Given the description of an element on the screen output the (x, y) to click on. 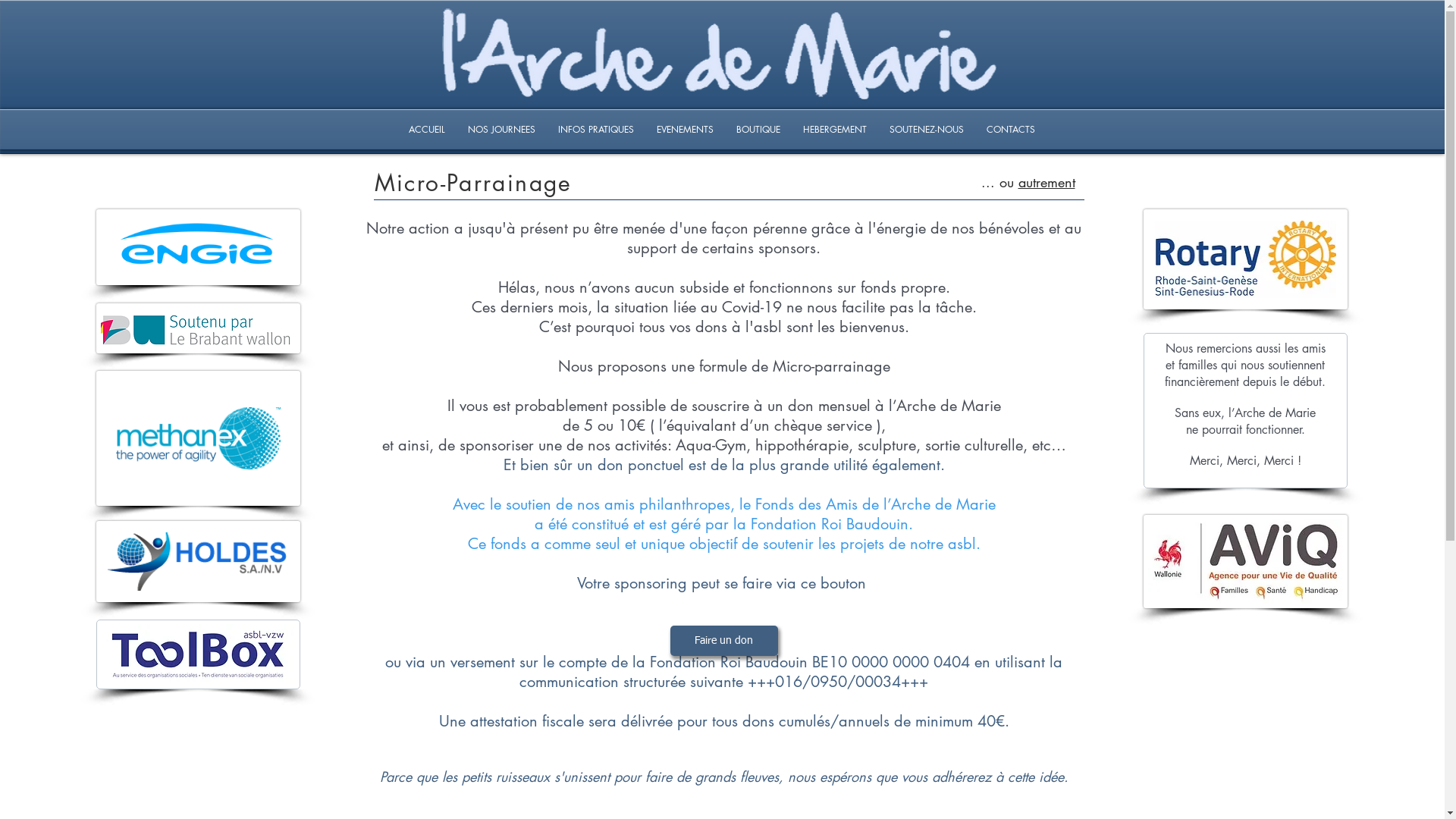
Faire un don Element type: text (724, 640)
CONTACTS Element type: text (1010, 129)
SOUTENEZ-NOUS Element type: text (926, 129)
INFOS PRATIQUES Element type: text (595, 129)
EVENEMENTS Element type: text (684, 129)
don ponctuel Element type: text (640, 464)
NOS JOURNEES Element type: text (501, 129)
BOUTIQUE Element type: text (757, 129)
ACCUEIL Element type: text (426, 129)
autrement Element type: text (1045, 181)
HEBERGEMENT Element type: text (834, 129)
